Given the description of an element on the screen output the (x, y) to click on. 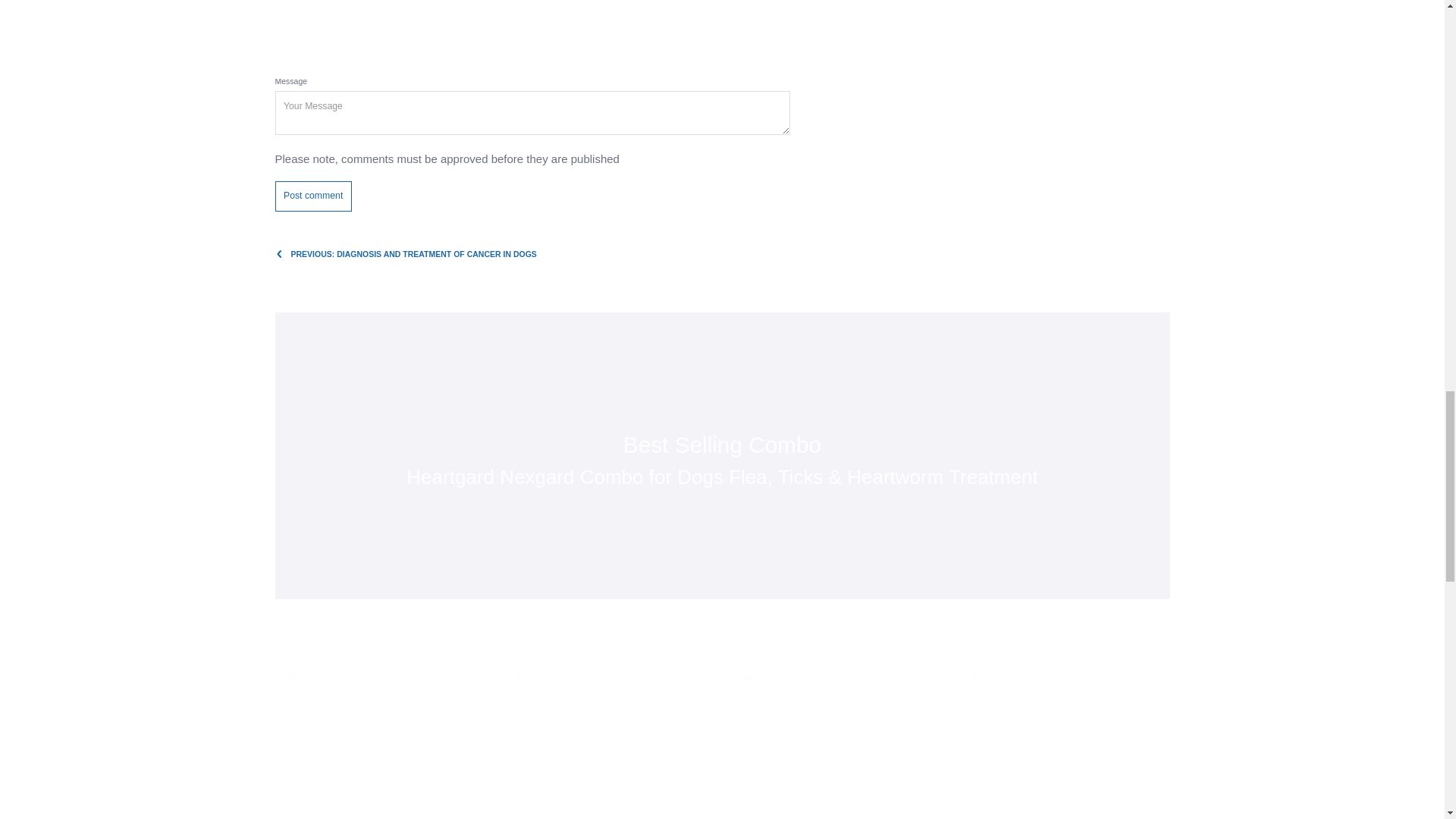
Post comment (312, 195)
